Given the description of an element on the screen output the (x, y) to click on. 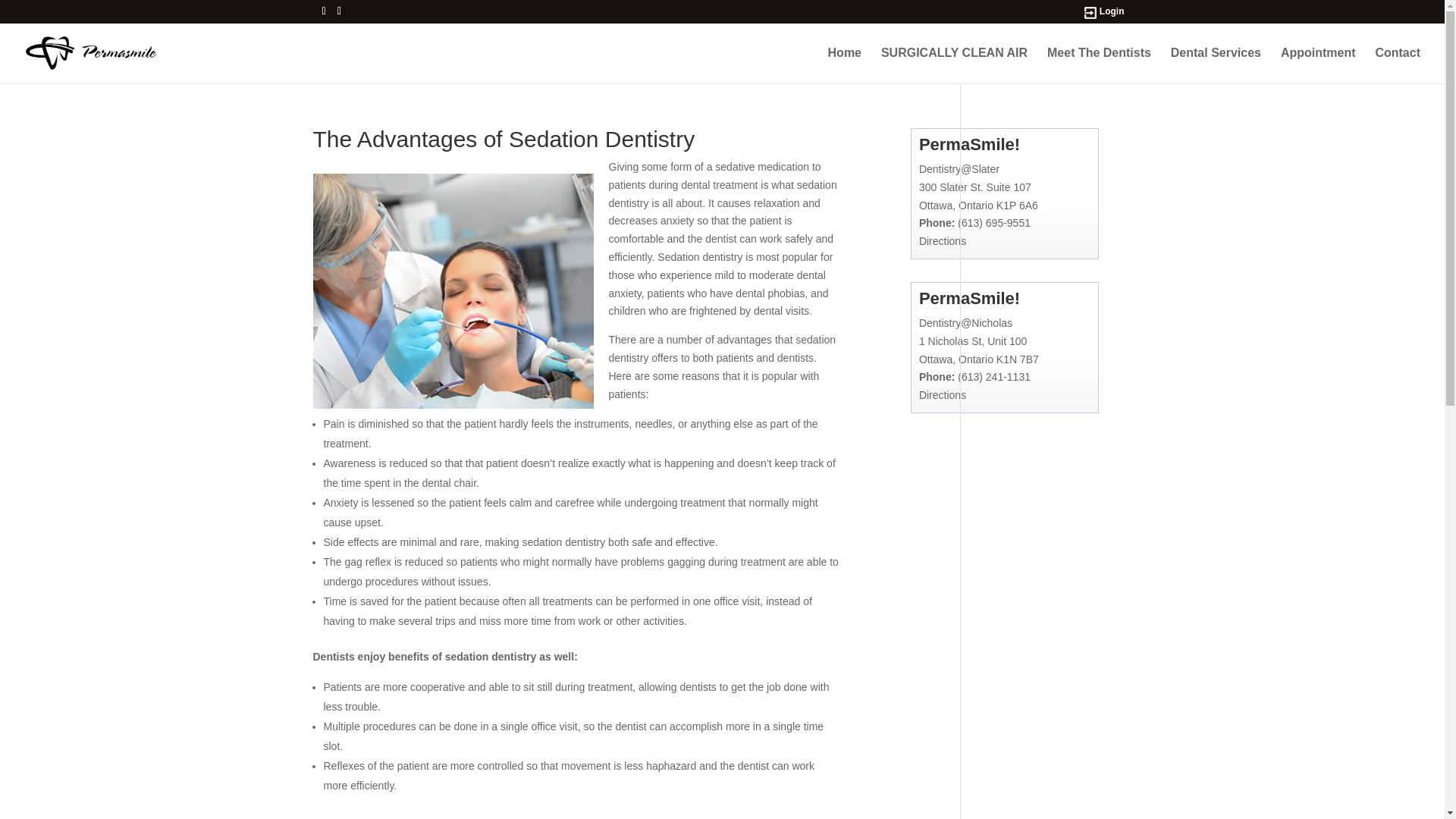
Appointment (1318, 65)
Meet The Dentists (1098, 65)
Login (1111, 12)
SURGICALLY CLEAN AIR (953, 65)
Dental Services (1215, 65)
Directions (942, 241)
Directions (942, 395)
Contact (1397, 65)
Home (844, 65)
